Given the description of an element on the screen output the (x, y) to click on. 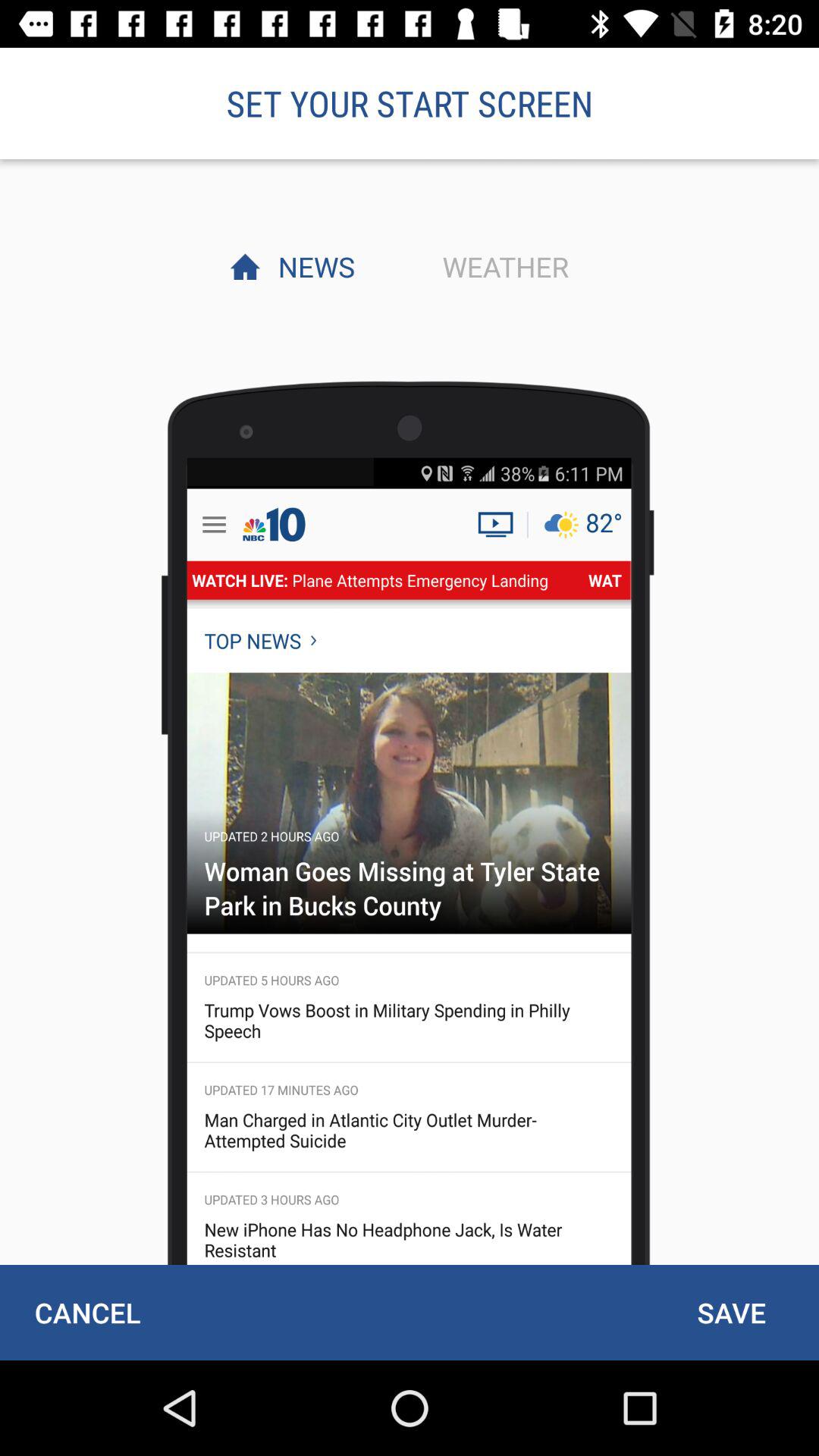
jump to the set your start item (409, 103)
